Given the description of an element on the screen output the (x, y) to click on. 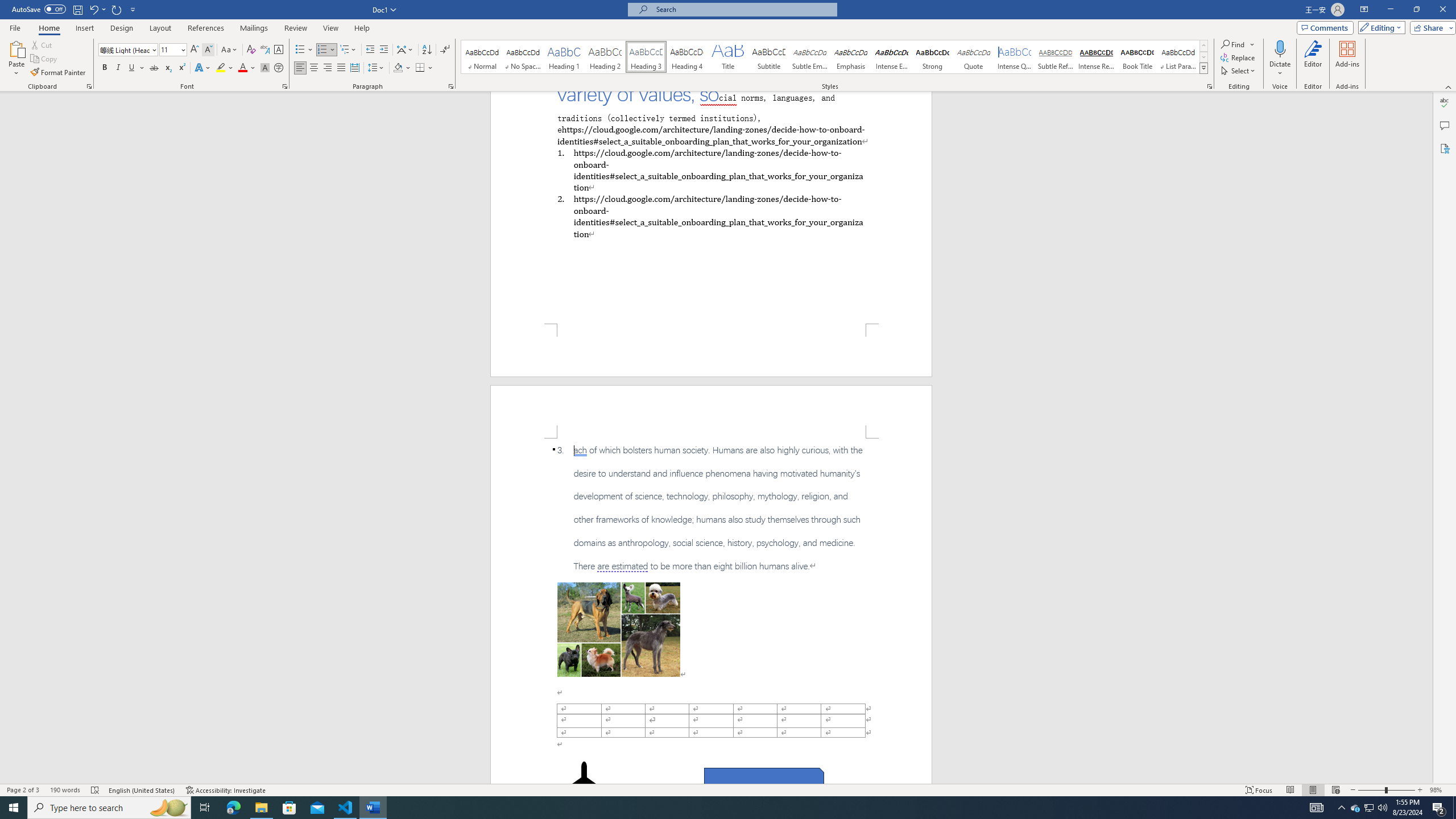
AutomationID: QuickStylesGallery (834, 56)
Font... (285, 85)
1. (710, 169)
Show/Hide Editing Marks (444, 49)
Clear Formatting (250, 49)
Multilevel List (347, 49)
Asian Layout (405, 49)
Book Title (1136, 56)
Row Down (1203, 56)
